Given the description of an element on the screen output the (x, y) to click on. 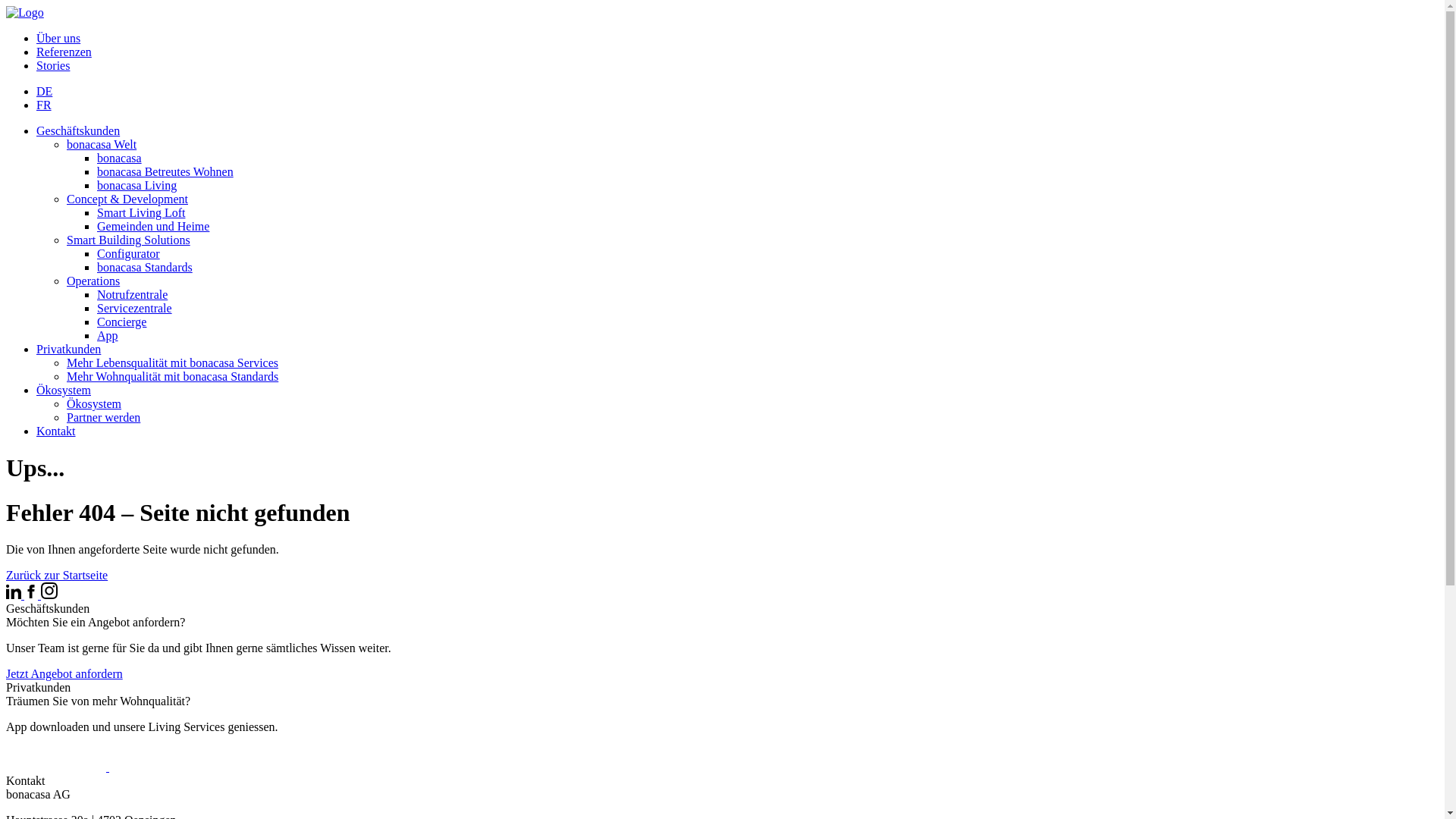
Stories Element type: text (52, 65)
Referenzen Element type: text (63, 51)
Configurator Element type: text (128, 253)
bonacasa Standards Element type: text (144, 266)
Smart Building Solutions Element type: text (128, 239)
Concept & Development Element type: text (127, 198)
DE Element type: text (44, 90)
Kontakt Element type: text (55, 430)
FR Element type: text (43, 104)
Smart Living Loft Element type: text (141, 212)
bonacasa Living Element type: text (136, 184)
bonacasa Element type: text (119, 157)
bonacasa Betreutes Wohnen Element type: text (165, 171)
App Element type: text (107, 335)
Jetzt Angebot anfordern Element type: text (64, 673)
Privatkunden Element type: text (68, 348)
Partner werden Element type: text (103, 417)
Servicezentrale Element type: text (134, 307)
Operations Element type: text (92, 280)
bonacasa Welt Element type: text (101, 144)
Notrufzentrale Element type: text (132, 294)
Gemeinden und Heime Element type: text (153, 225)
Concierge Element type: text (121, 321)
